Given the description of an element on the screen output the (x, y) to click on. 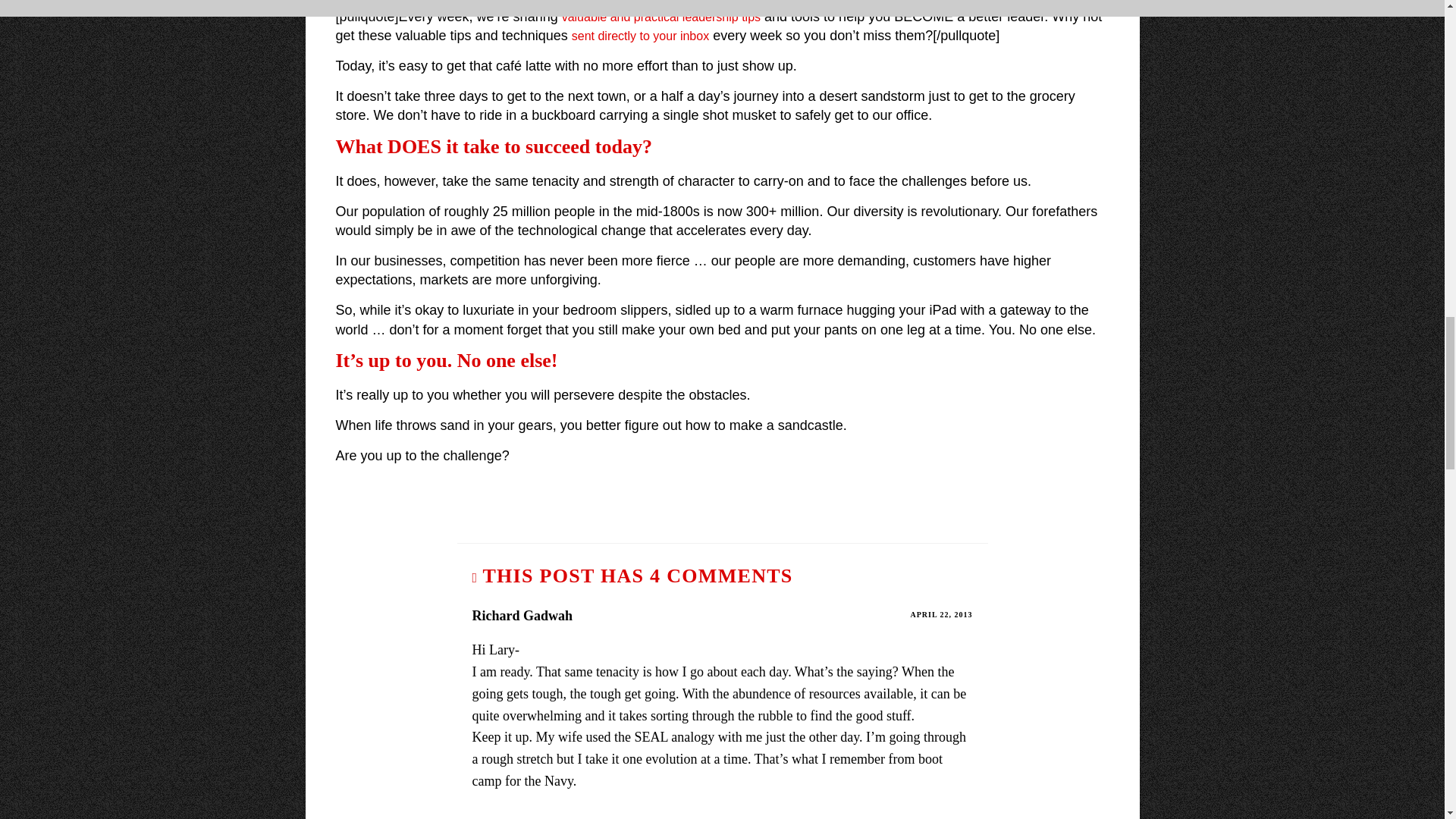
Weekly Updates (640, 35)
Don't miss another article (661, 16)
